Given the description of an element on the screen output the (x, y) to click on. 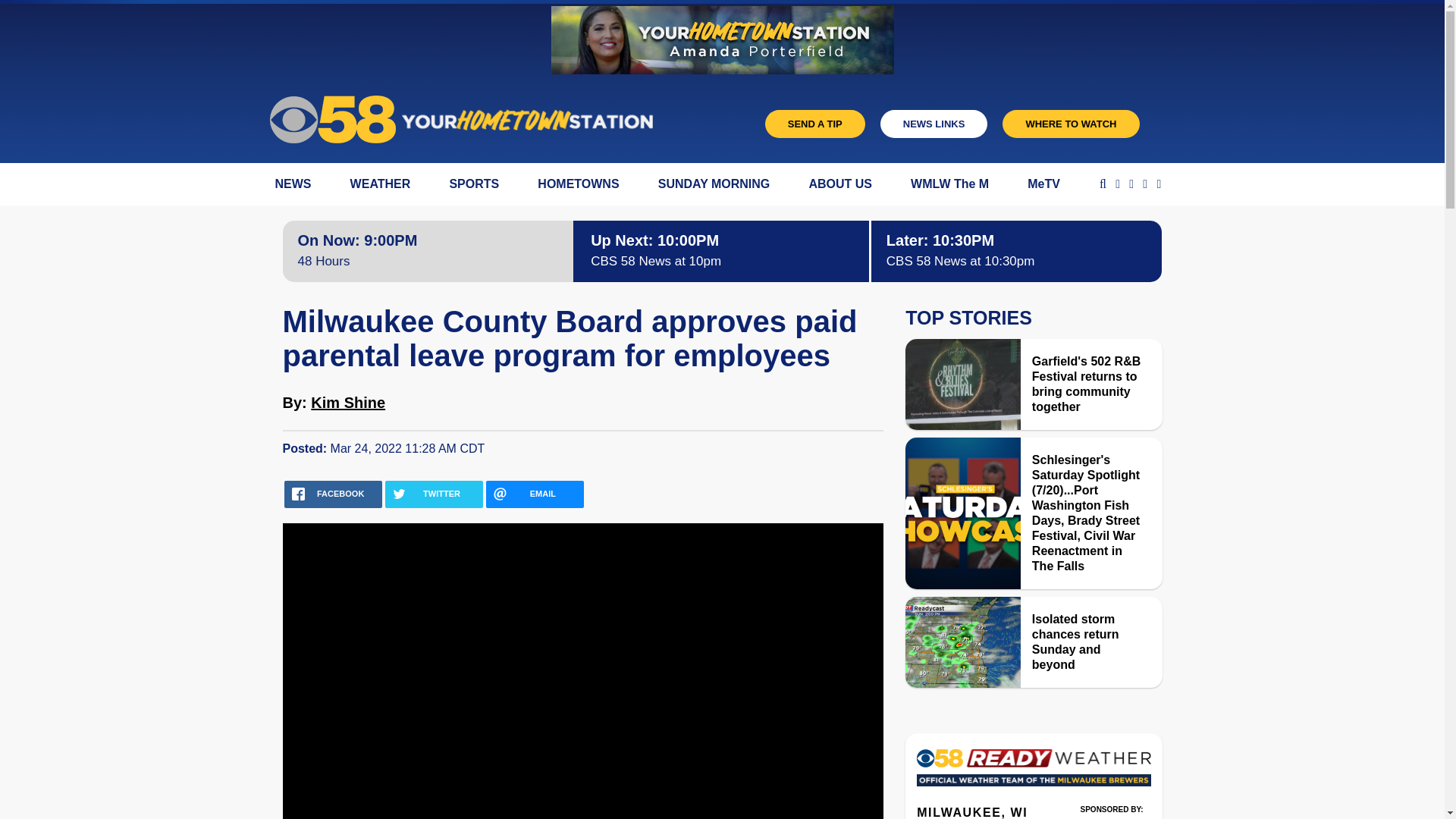
Weather (1033, 772)
